Given the description of an element on the screen output the (x, y) to click on. 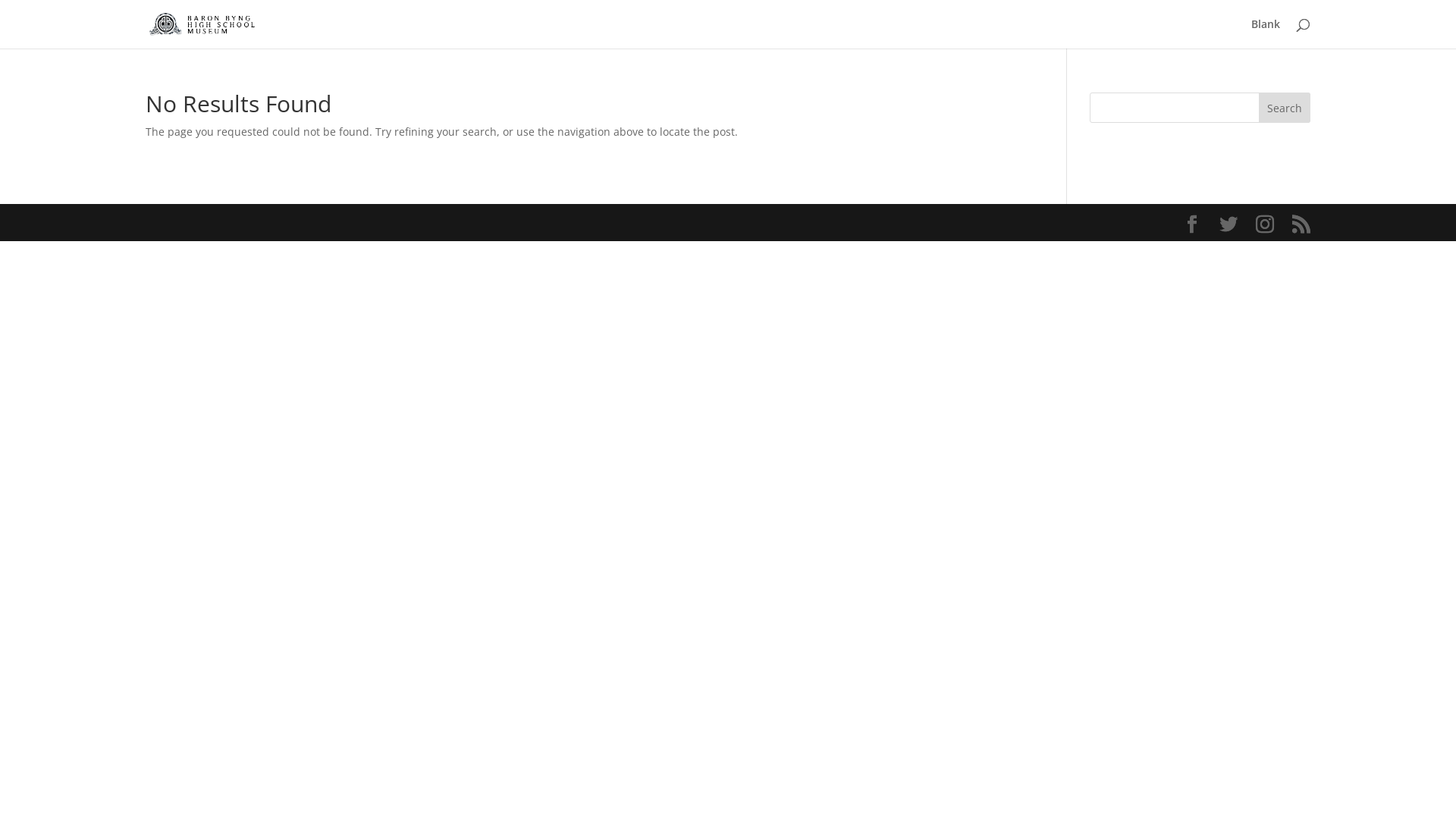
Search Element type: text (1284, 107)
Blank Element type: text (1265, 33)
